Given the description of an element on the screen output the (x, y) to click on. 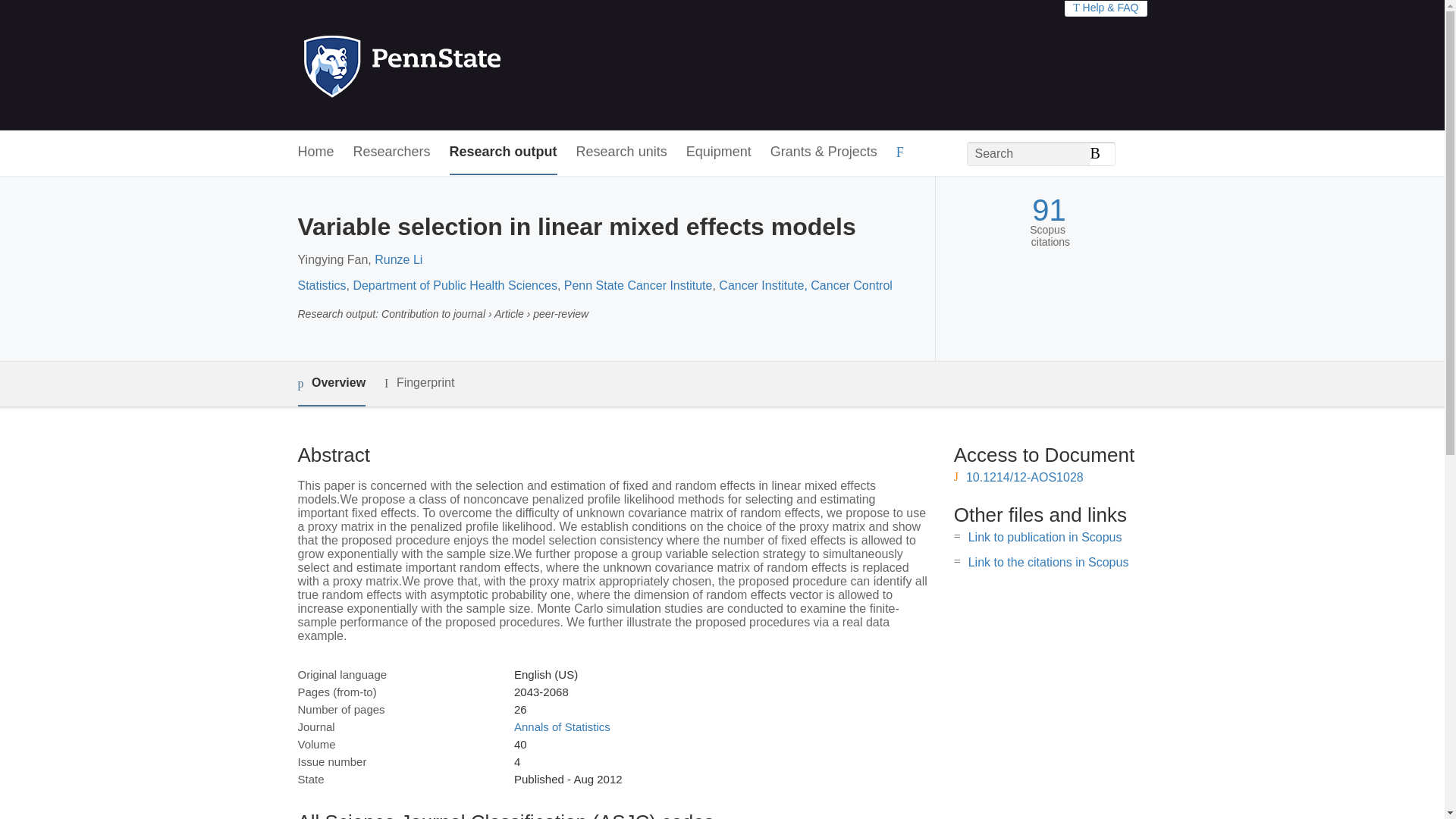
Research units (621, 152)
91 (1048, 210)
Department of Public Health Sciences (454, 285)
Annals of Statistics (561, 726)
Researchers (391, 152)
Link to publication in Scopus (1045, 536)
Runze Li (398, 259)
Penn State Cancer Institute (638, 285)
Overview (331, 383)
